Given the description of an element on the screen output the (x, y) to click on. 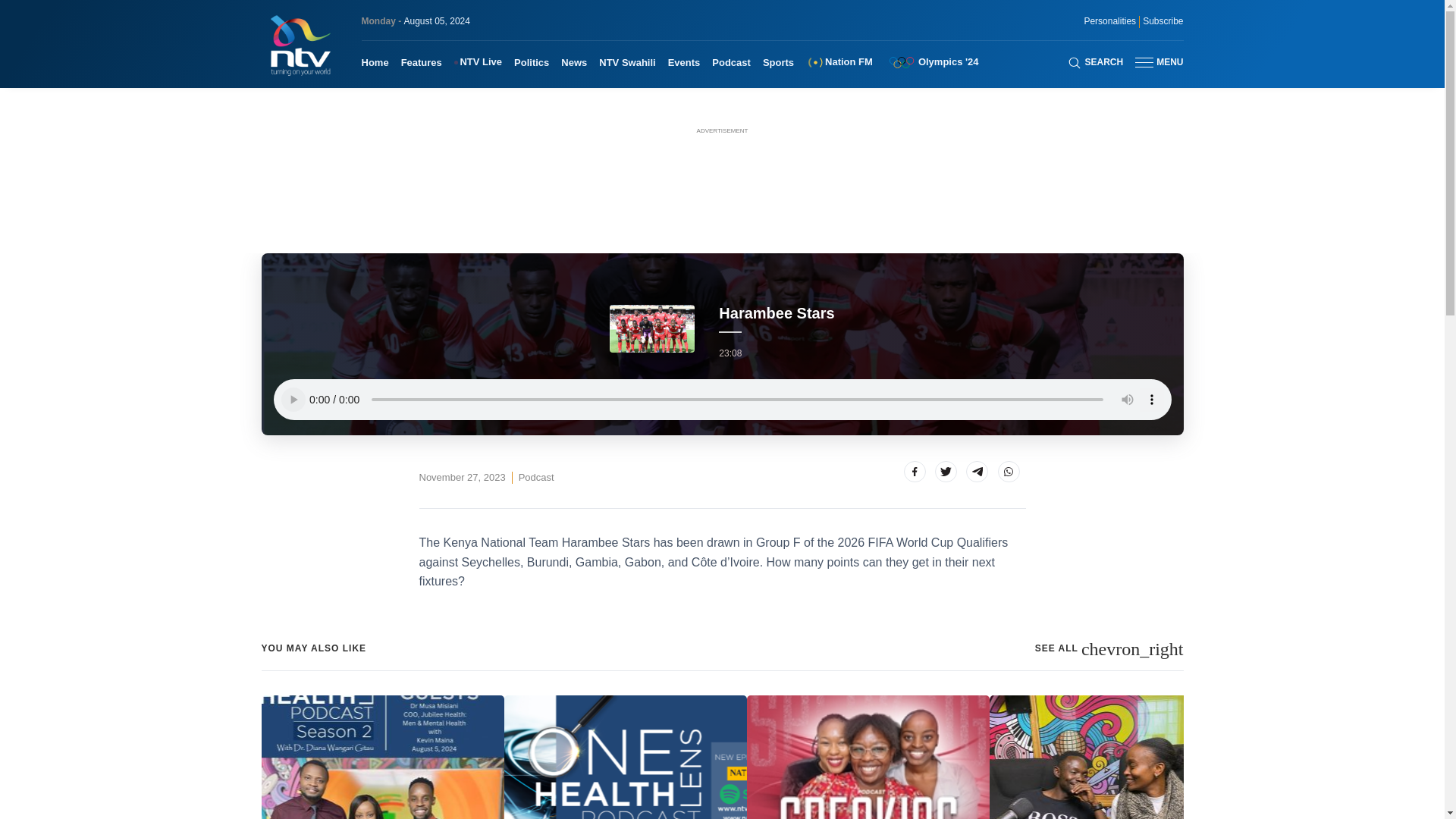
NTV Live (478, 61)
Politics (530, 61)
Subscribe (1162, 21)
Personalities (1109, 21)
Telegram (977, 472)
Features (421, 61)
Twitter (945, 472)
Harambee Stars (536, 477)
Home (374, 61)
Facebook (915, 472)
WhatsApp (1008, 472)
